Given the description of an element on the screen output the (x, y) to click on. 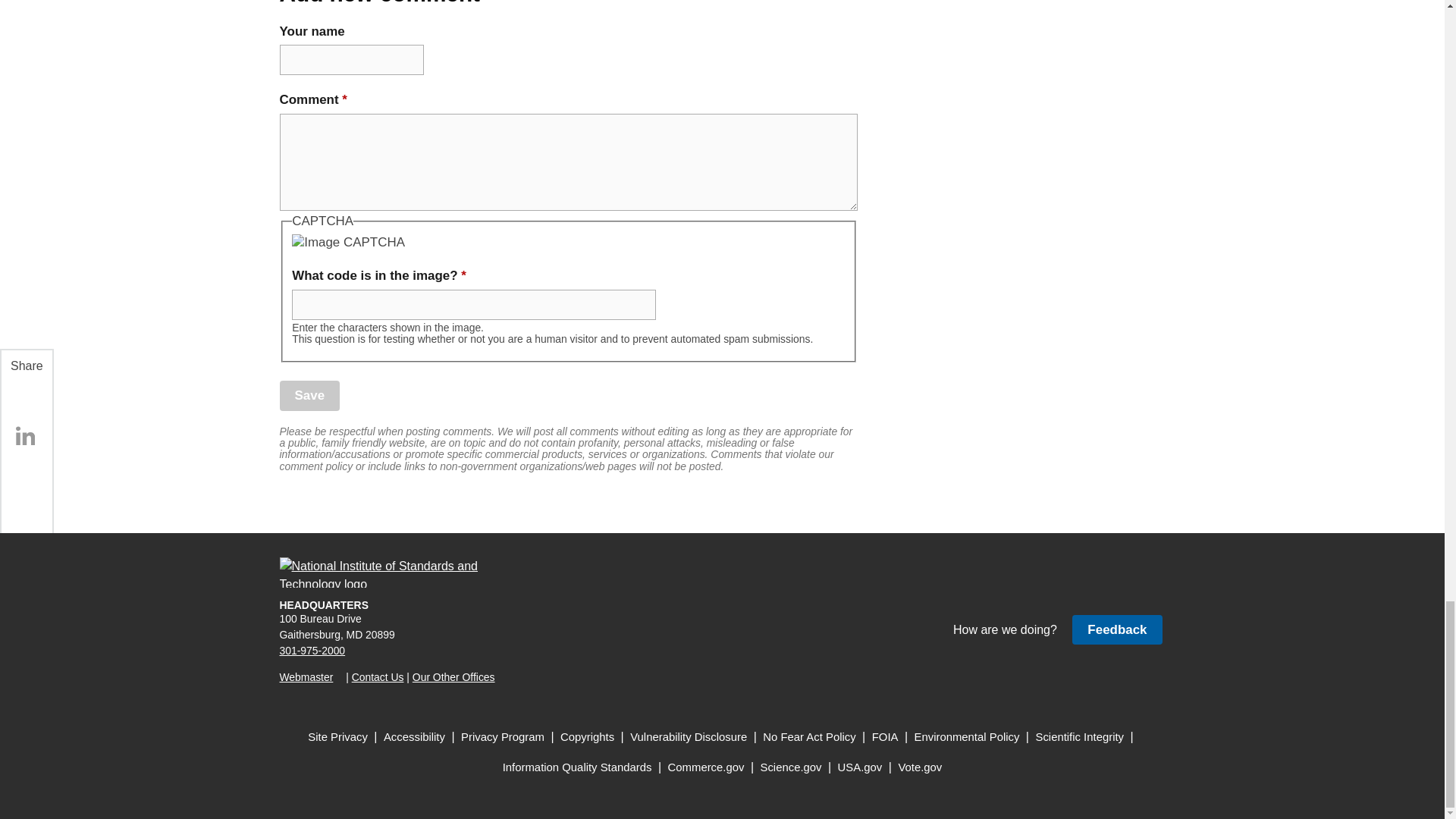
Image CAPTCHA (348, 242)
Provide feedback (1116, 629)
National Institute of Standards and Technology (387, 572)
Save (309, 395)
